Given the description of an element on the screen output the (x, y) to click on. 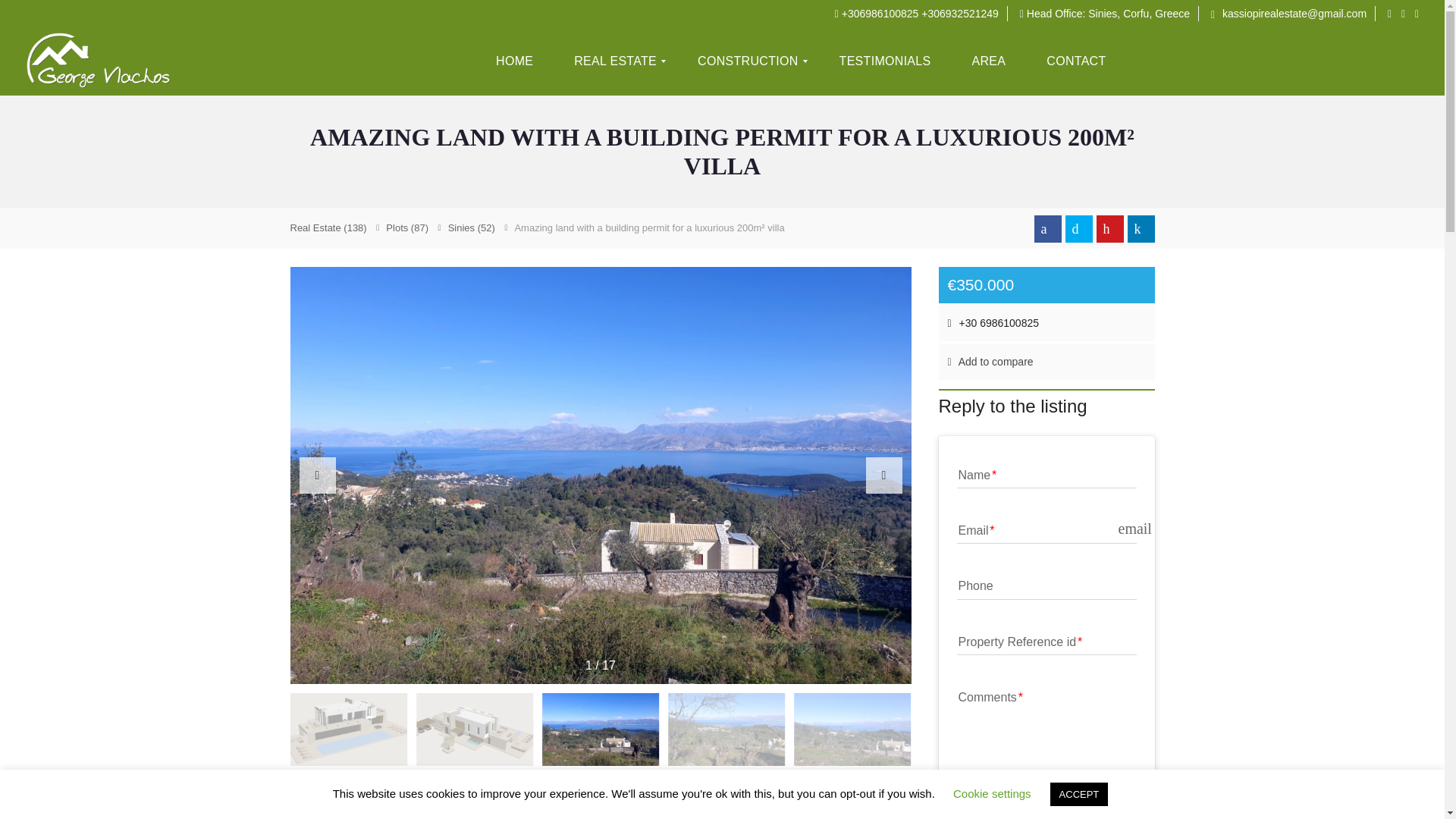
Plots (414, 806)
Share on Pin it (1110, 228)
REAL ESTATE (614, 61)
Share on Tweet (1078, 228)
Real Estate (327, 227)
Plots (406, 227)
Sinies, Corfu, Greece (1138, 13)
Share on Share on Facebook (1047, 228)
Share on LinkedIn (1140, 228)
Sinies (471, 227)
CONSTRUCTION (747, 61)
CONTACT (1075, 61)
TESTIMONIALS (885, 61)
